Given the description of an element on the screen output the (x, y) to click on. 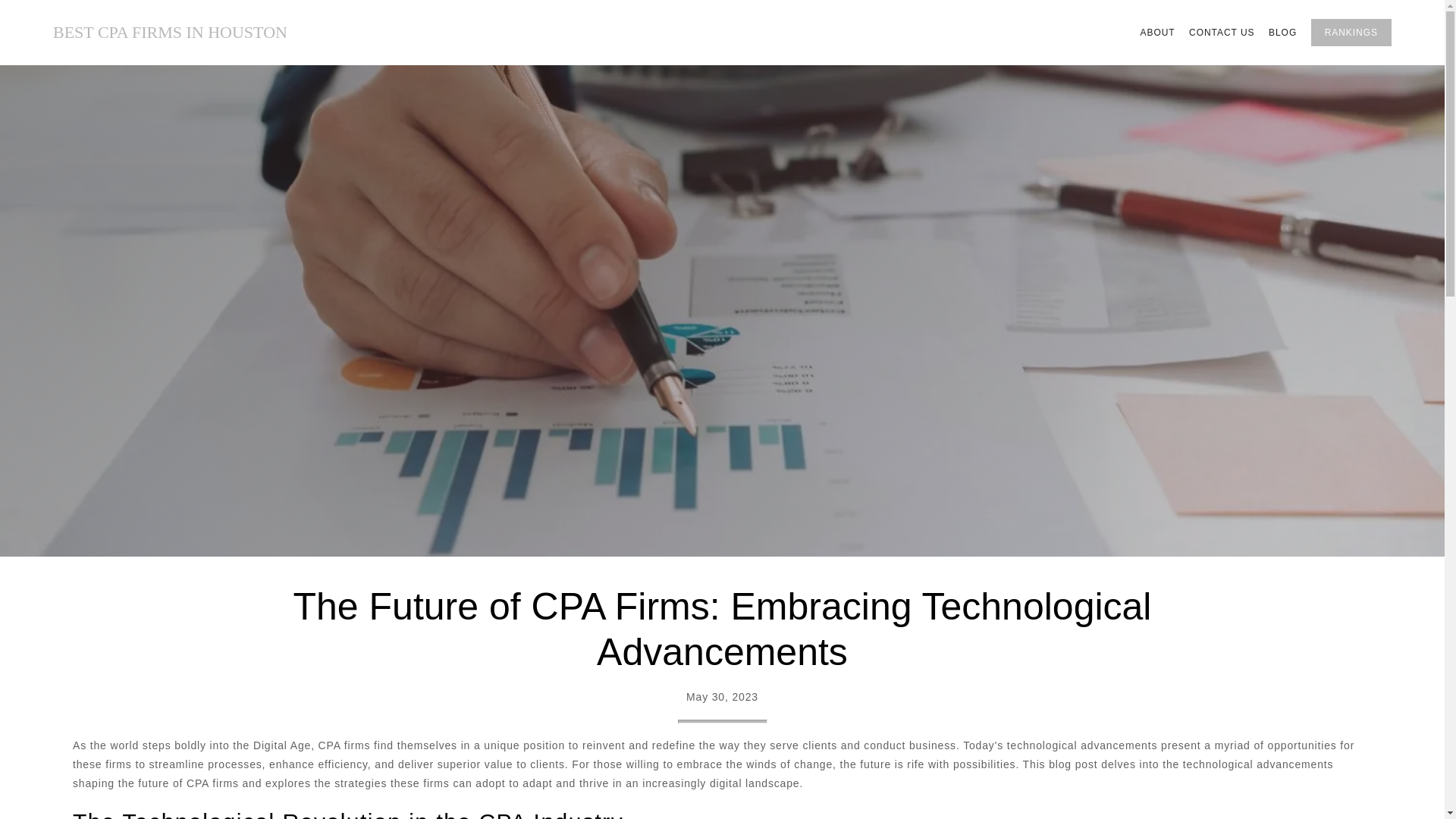
BLOG (1282, 32)
CONTACT US (1222, 32)
BEST CPA FIRMS IN HOUSTON (169, 32)
RANKINGS (1351, 31)
ABOUT (1157, 32)
